Given the description of an element on the screen output the (x, y) to click on. 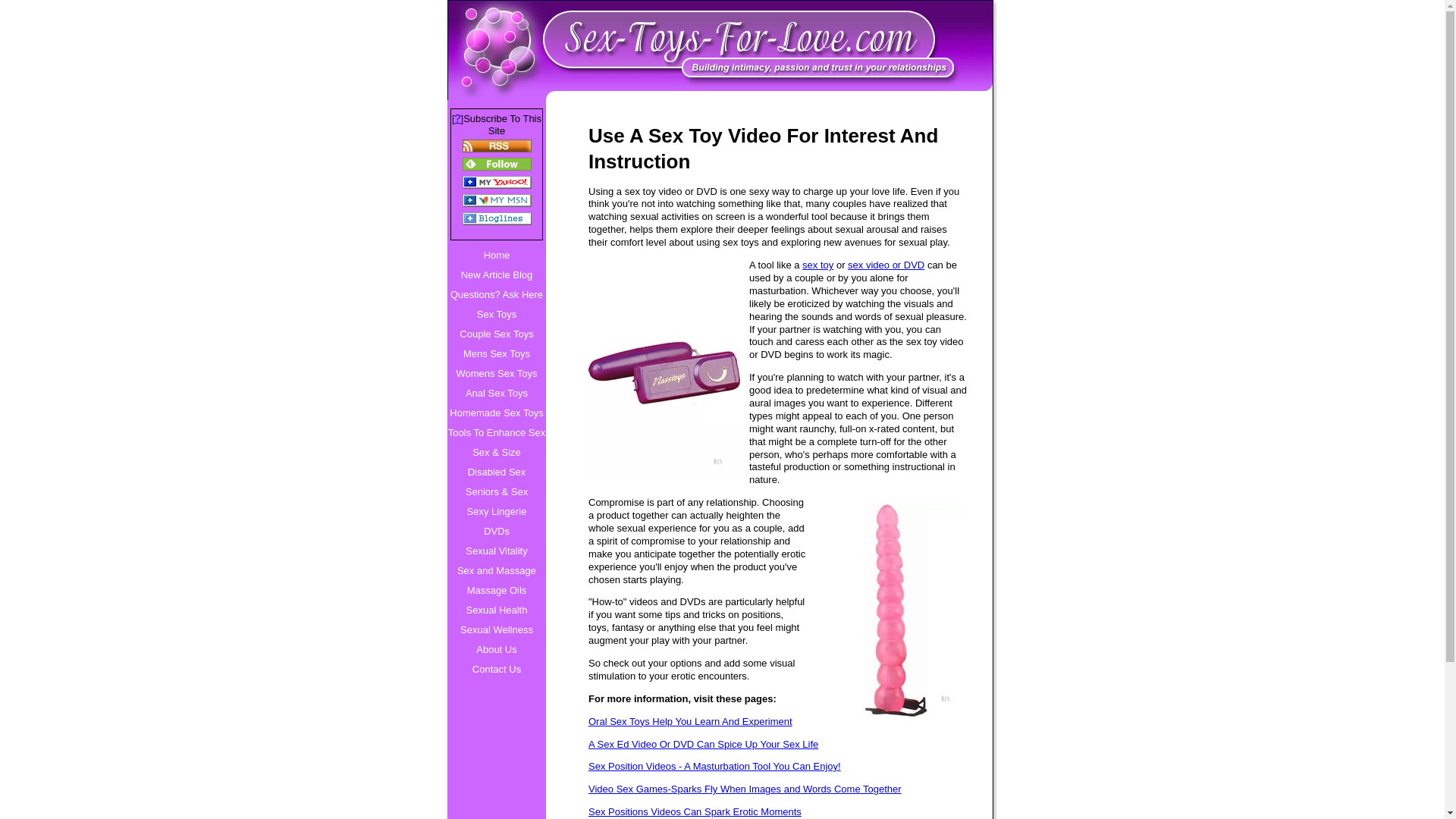
Contact Us (496, 669)
A Sex Ed Video Or DVD Can Spice Up Your Sex Life (778, 744)
New Article Blog (496, 275)
Sexual Health (496, 609)
Womens Sex Toys (496, 373)
About Us (496, 649)
sex video or DVD (885, 265)
Home (496, 255)
DVDs (496, 531)
Massage Oils (496, 590)
